Given the description of an element on the screen output the (x, y) to click on. 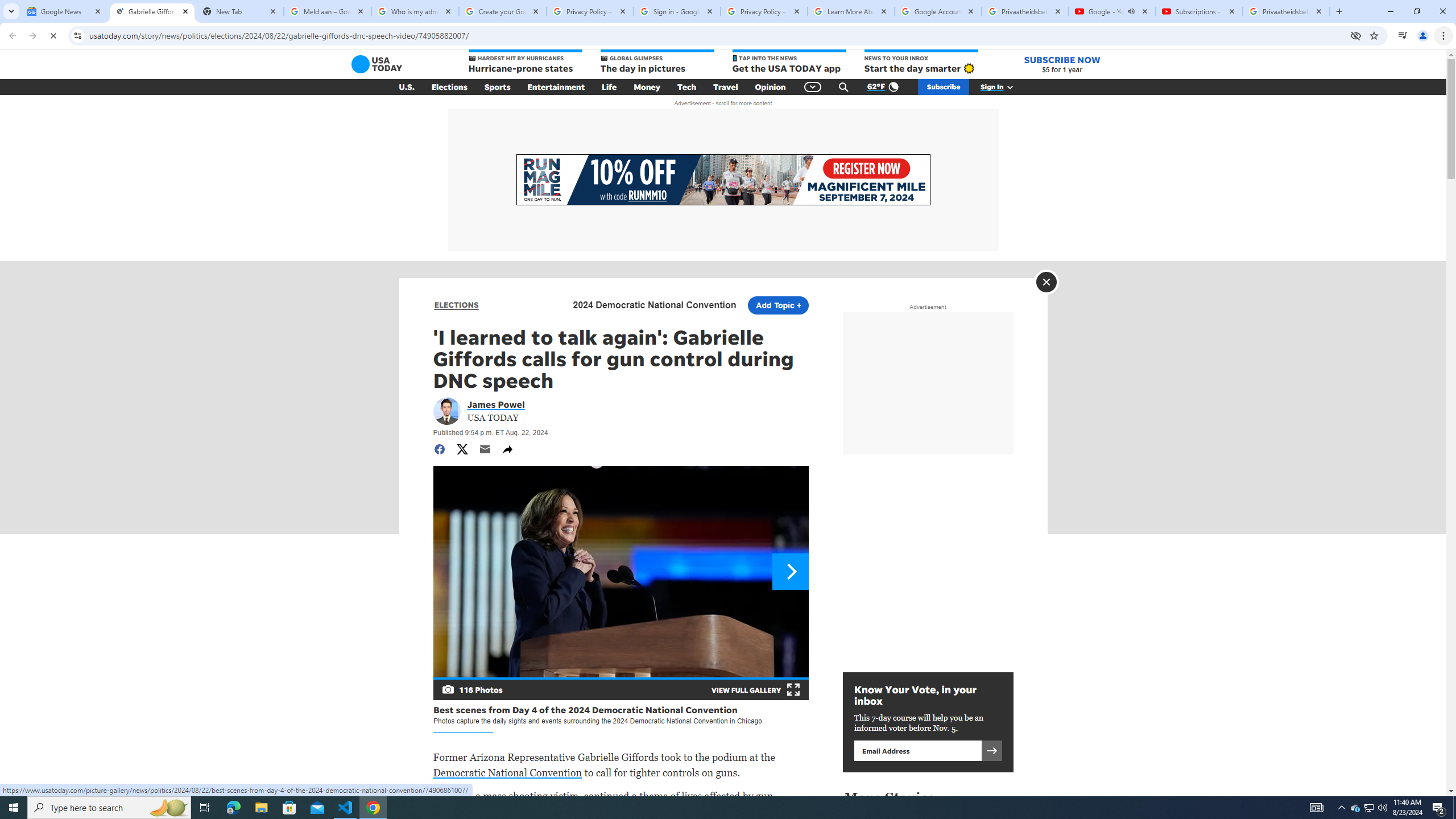
Share by email (484, 449)
Create your Google Account (502, 11)
New Tab (239, 11)
Portrait of James Powel (446, 411)
Share to Facebook (438, 449)
Share natively (506, 449)
Who is my administrator? - Google Account Help (415, 11)
Life (609, 87)
Elections (449, 87)
Travel (725, 87)
